Given the description of an element on the screen output the (x, y) to click on. 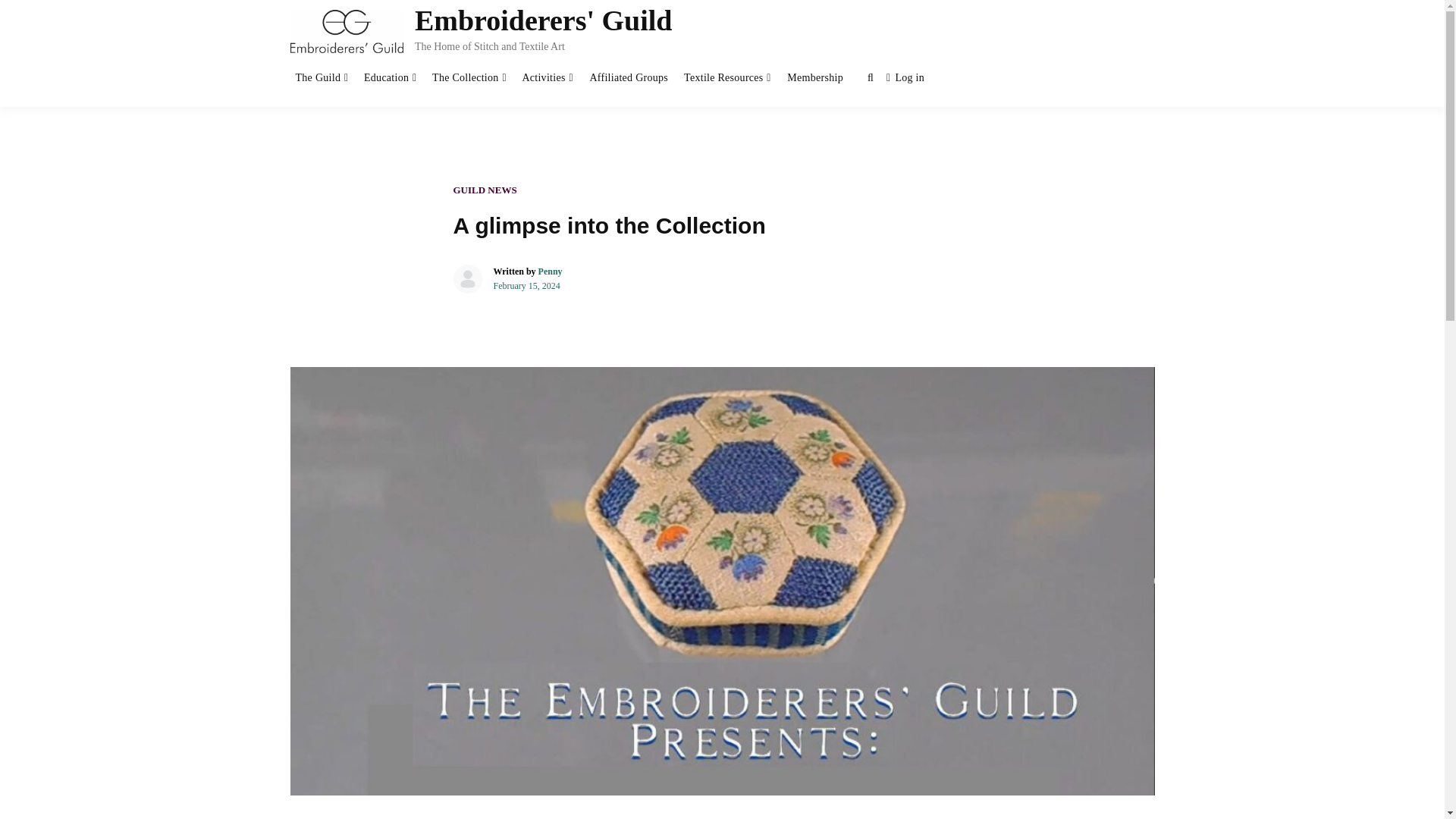
Education (385, 78)
The Guild (317, 78)
Embroiderers' Guild (543, 20)
Login (905, 78)
